Given the description of an element on the screen output the (x, y) to click on. 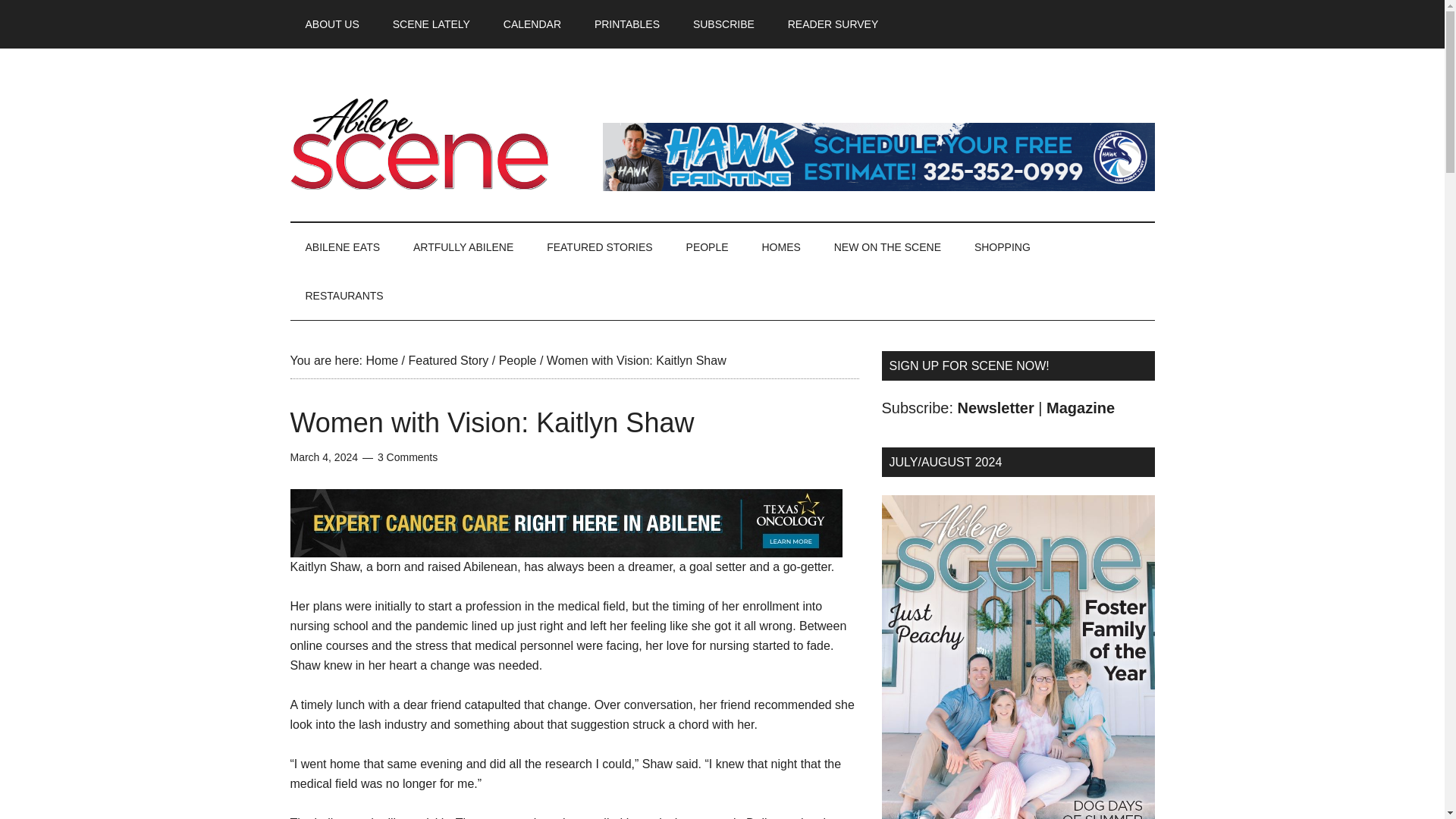
ABOUT US (331, 24)
FEATURED STORIES (599, 246)
READER SURVEY (833, 24)
Abilene Scene (433, 143)
ARTFULLY ABILENE (462, 246)
ABILENE EATS (341, 246)
PRINTABLES (627, 24)
SUBSCRIBE (724, 24)
SCENE LATELY (430, 24)
CALENDAR (531, 24)
